Given the description of an element on the screen output the (x, y) to click on. 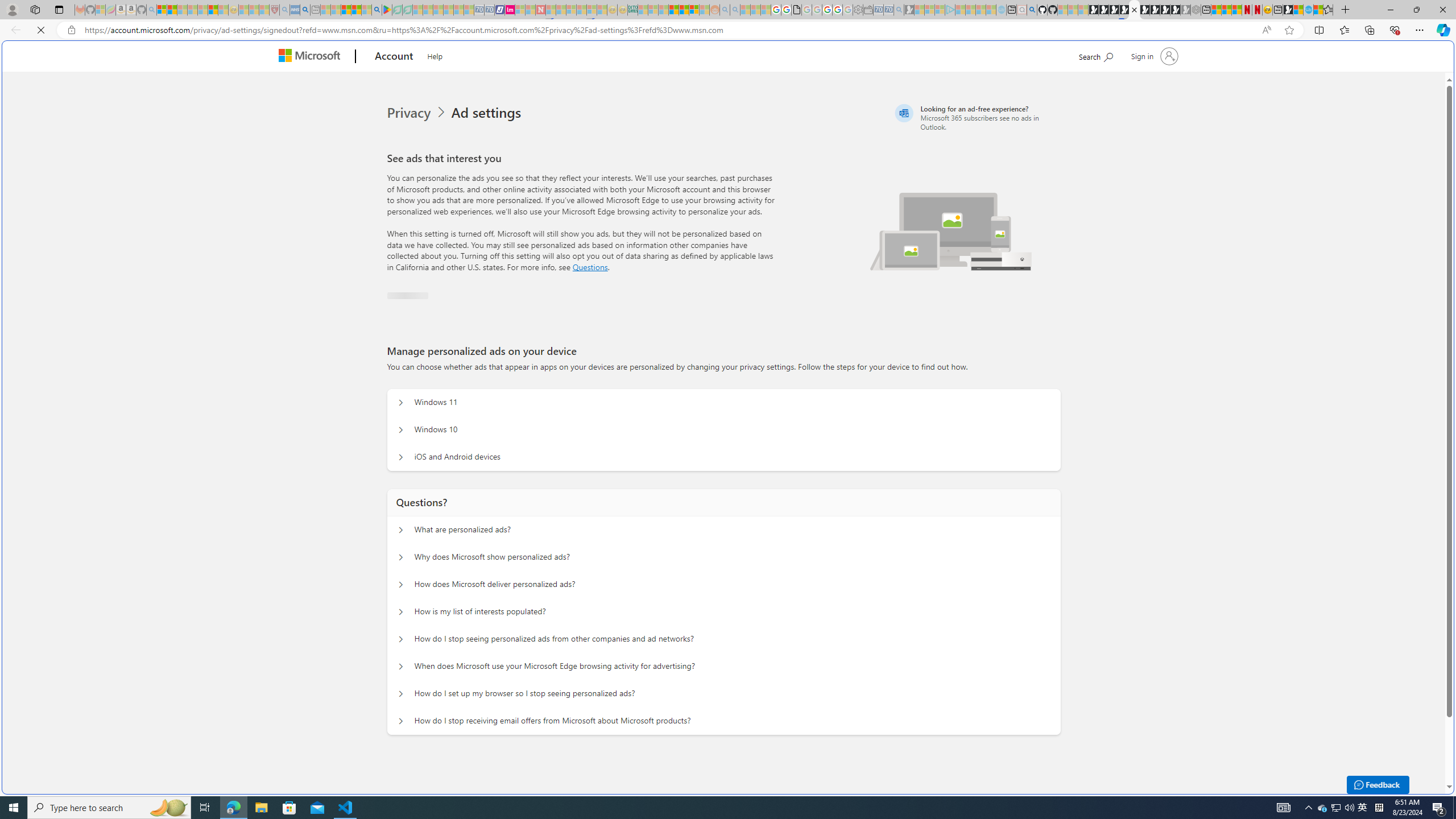
Ad settings toggle (398, 285)
Search Microsoft.com (1095, 54)
Play Cave FRVR in your browser | Games from Microsoft Start (922, 242)
Home | Sky Blue Bikes - Sky Blue Bikes (1118, 242)
